Given the description of an element on the screen output the (x, y) to click on. 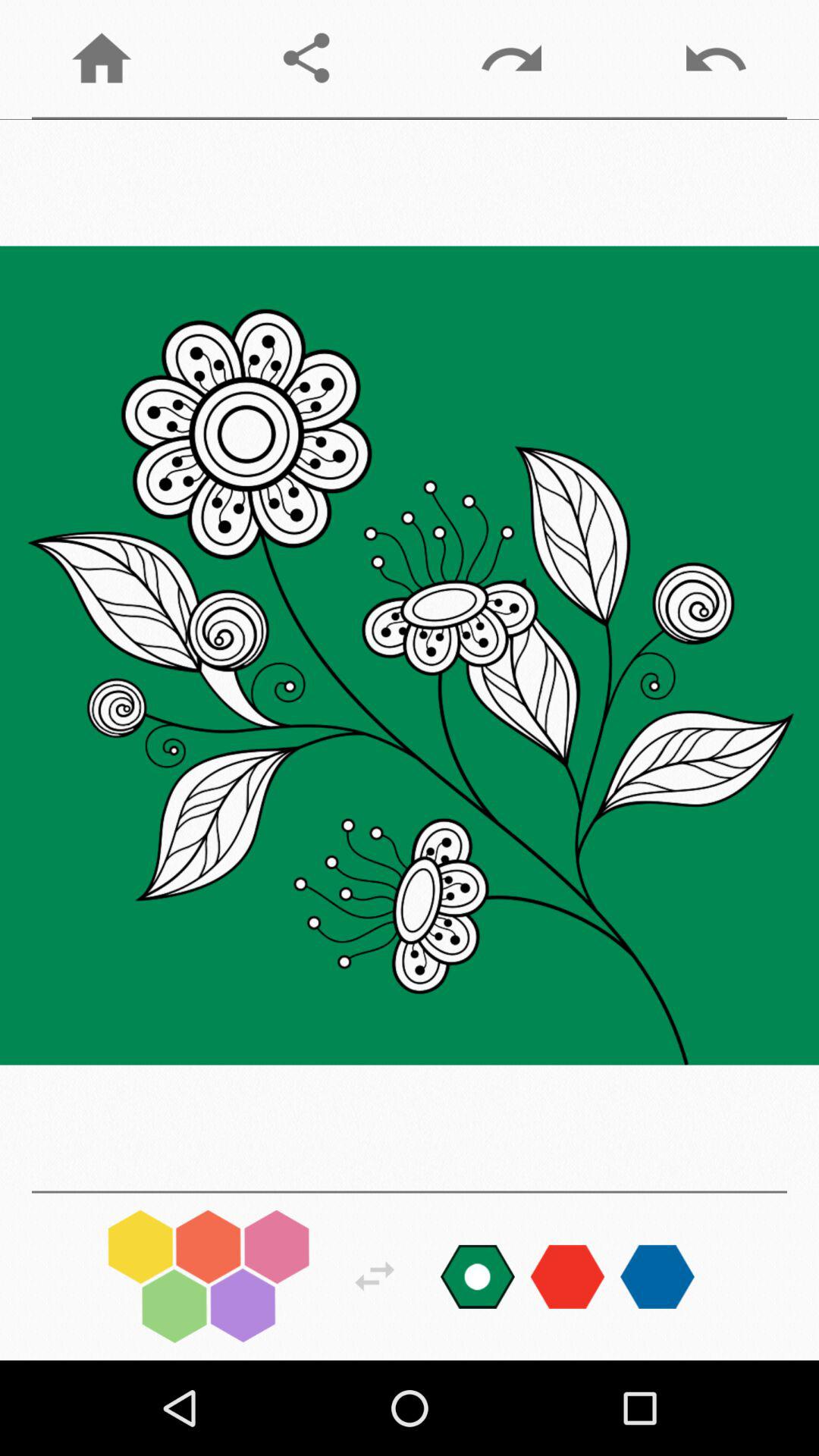
select color (477, 1276)
